Given the description of an element on the screen output the (x, y) to click on. 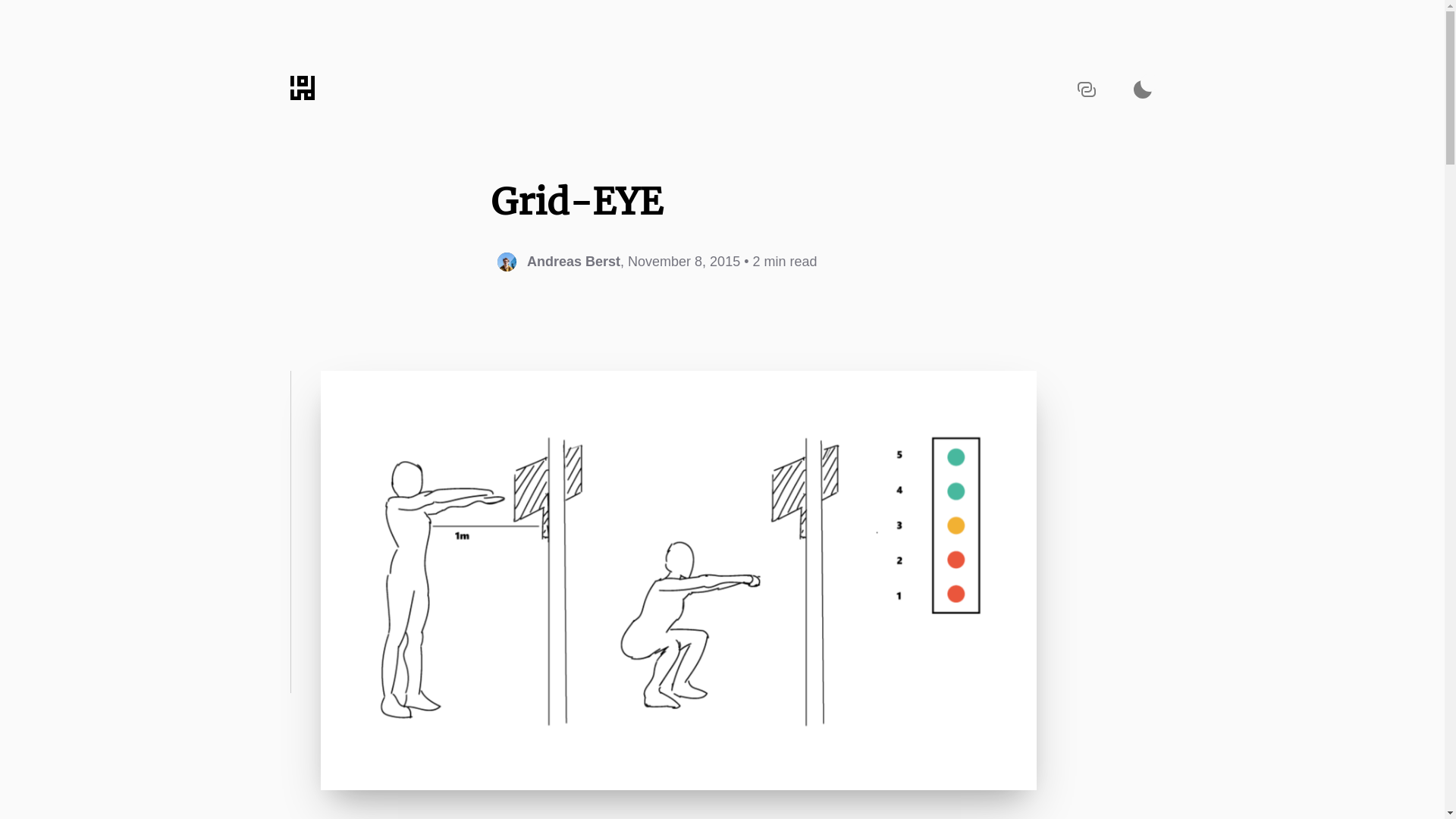
Andreas Berst
,  Element type: text (562, 261)
